Given the description of an element on the screen output the (x, y) to click on. 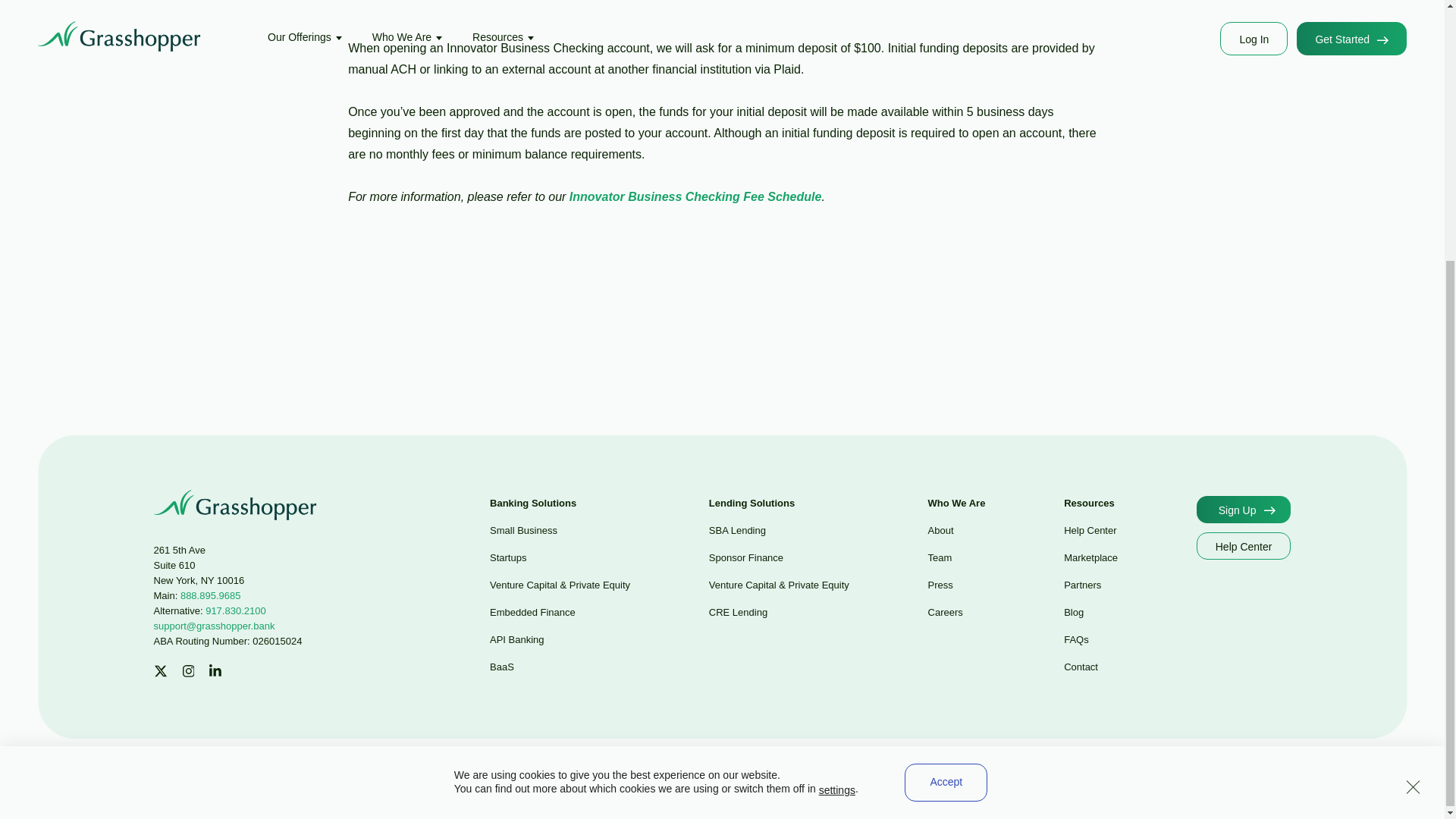
Alternative: 917.830.2100 (208, 610)
Innovator Business Checking Fee Schedule (695, 196)
Main: 888.895.9685 (196, 595)
